Given the description of an element on the screen output the (x, y) to click on. 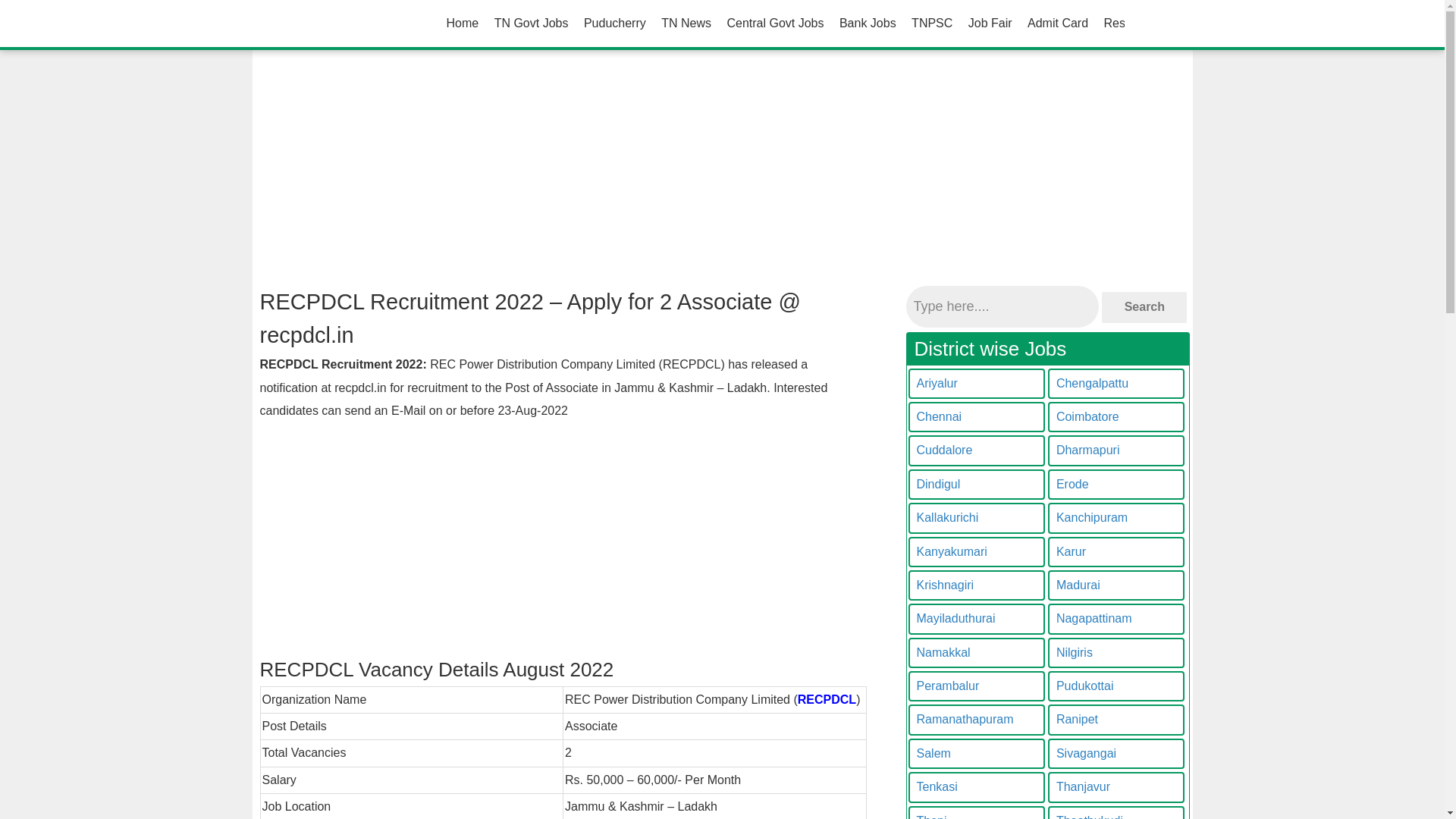
Mayiladuthurai (976, 618)
Dindigul (976, 484)
Govt Jobs in Cuddalore (976, 450)
Karur (1116, 552)
Govt Jobs in Kanyakumari (976, 552)
Bank Jobs (867, 23)
Nilgiris (1116, 653)
Ranipet (1116, 719)
Puducherry (615, 23)
Chengalpattu (1116, 383)
